Given the description of an element on the screen output the (x, y) to click on. 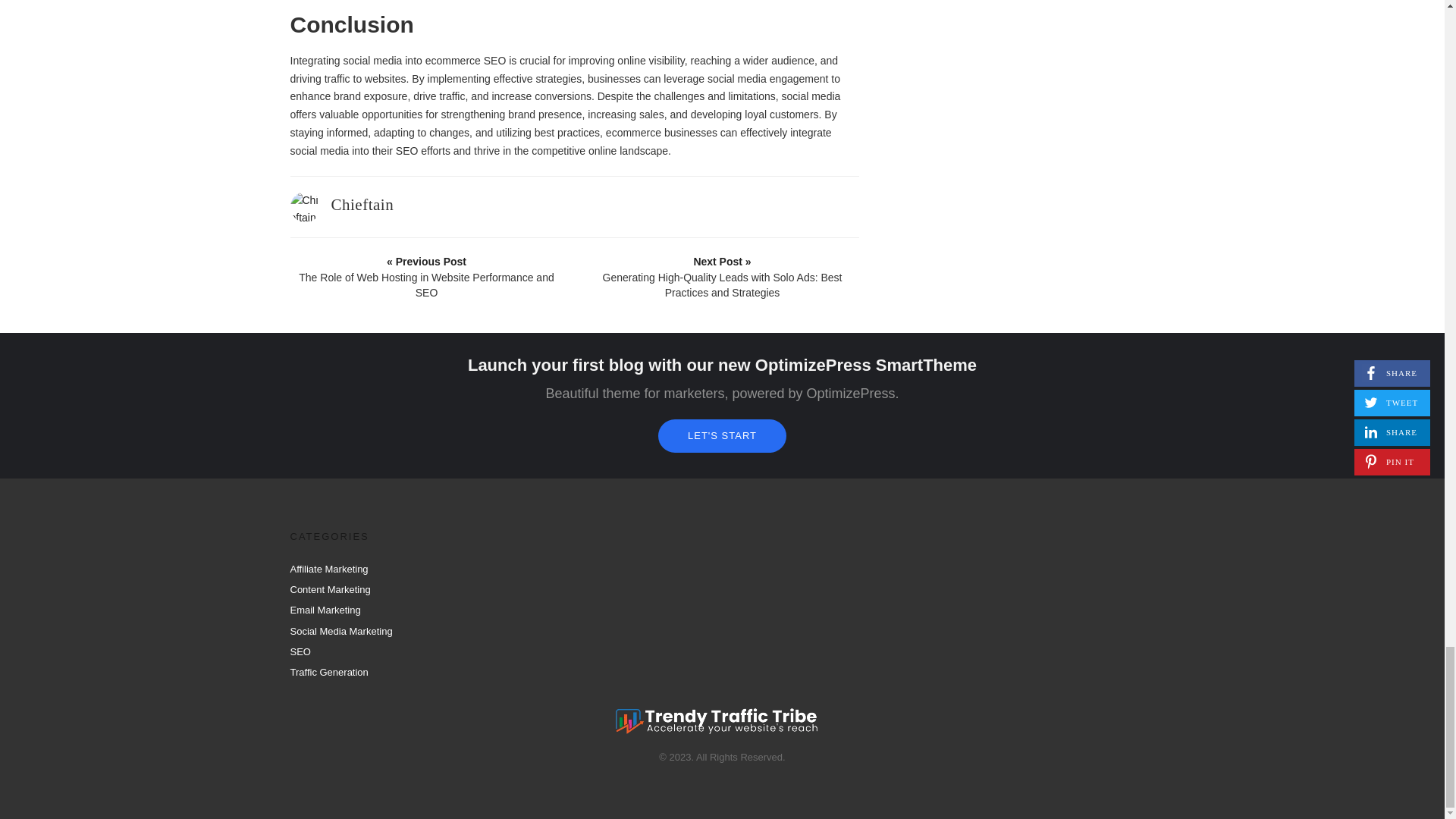
SEO (299, 651)
Social Media Marketing (340, 631)
Content Marketing (329, 589)
Affiliate Marketing (328, 568)
Trendy Traffic Tribe (716, 721)
LET'S START (722, 435)
Traffic Generation (328, 672)
Email Marketing (324, 609)
Chieftain (361, 204)
The Role of Web Hosting in Website Performance and SEO (427, 277)
